Given the description of an element on the screen output the (x, y) to click on. 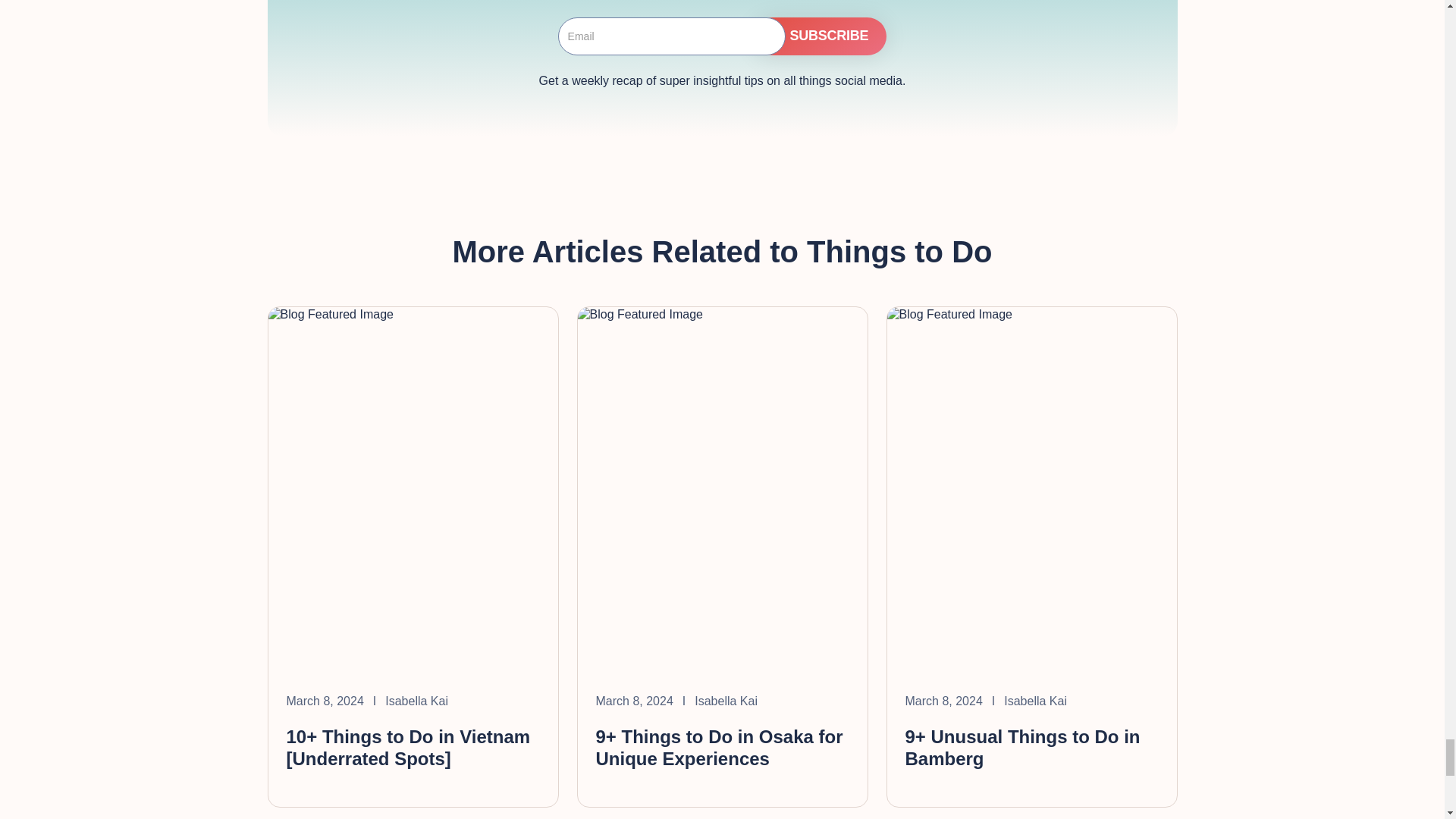
SUBSCRIBE (820, 36)
